Given the description of an element on the screen output the (x, y) to click on. 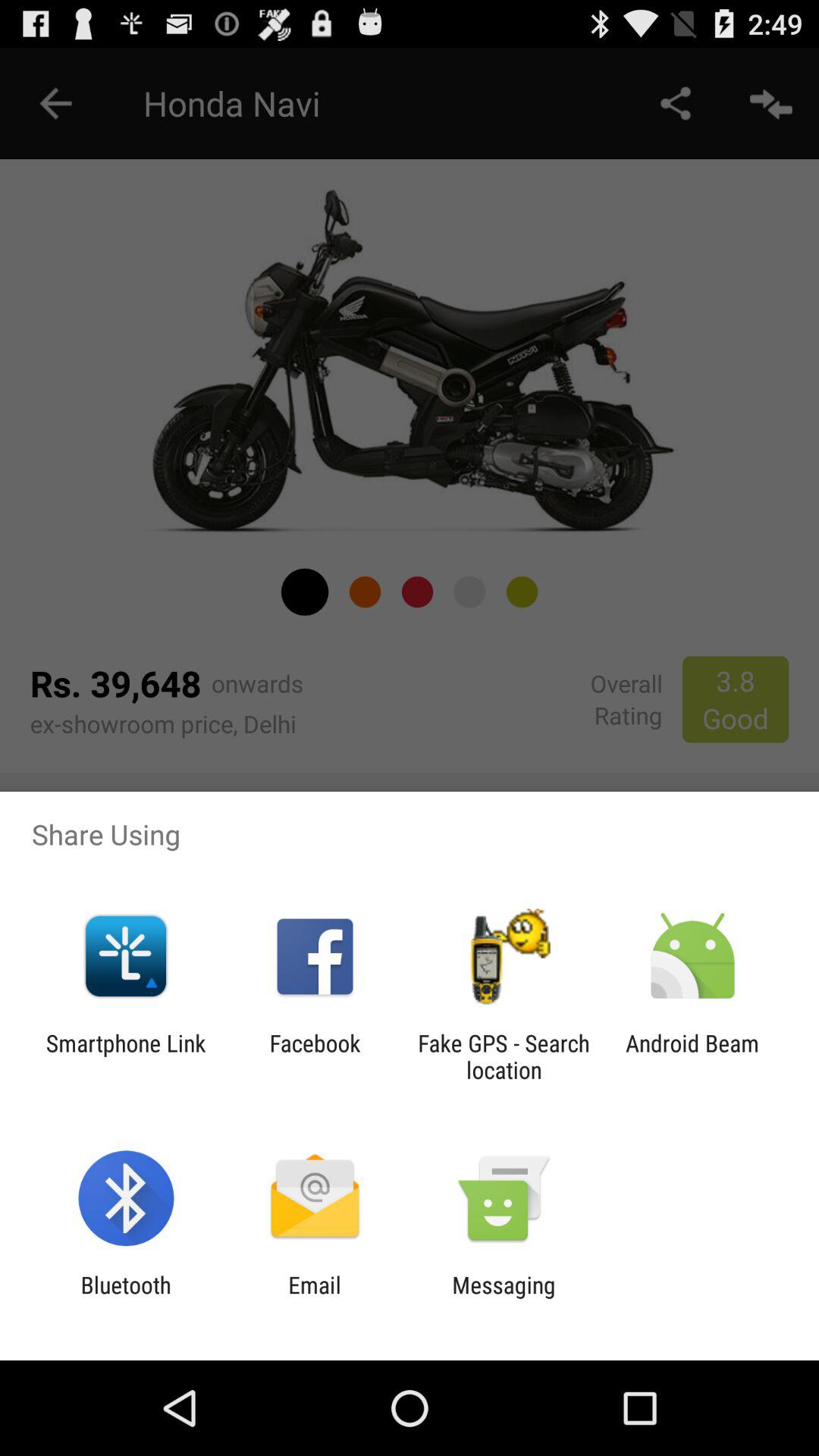
tap item next to email icon (503, 1298)
